Given the description of an element on the screen output the (x, y) to click on. 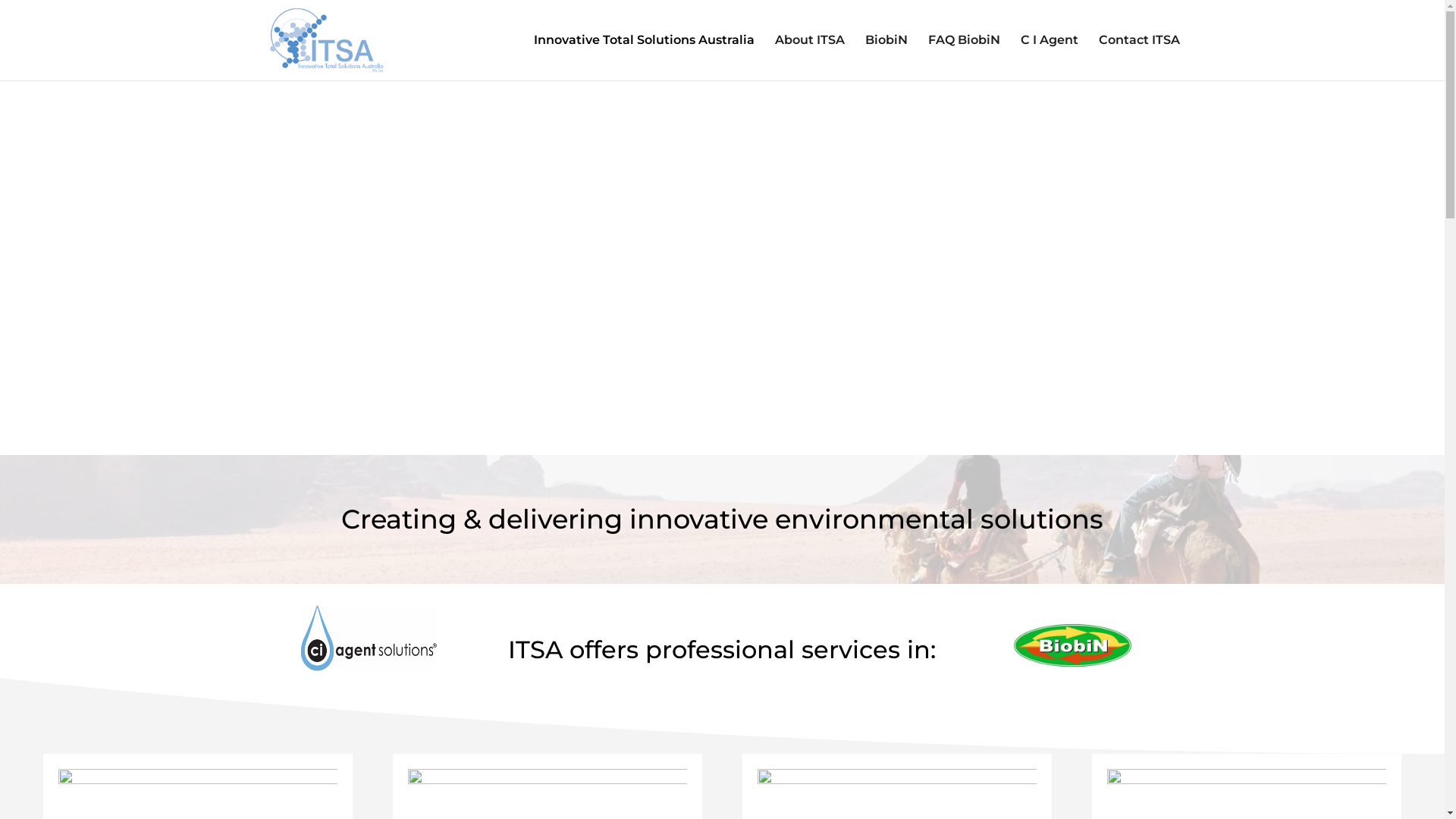
About ITSA Element type: text (809, 57)
FAQ BiobiN Element type: text (964, 57)
C I Agent Element type: text (1049, 57)
BiobiN Element type: text (885, 57)
Innovative Total Solutions Australia Element type: text (643, 57)
Contact ITSA Element type: text (1138, 57)
